Given the description of an element on the screen output the (x, y) to click on. 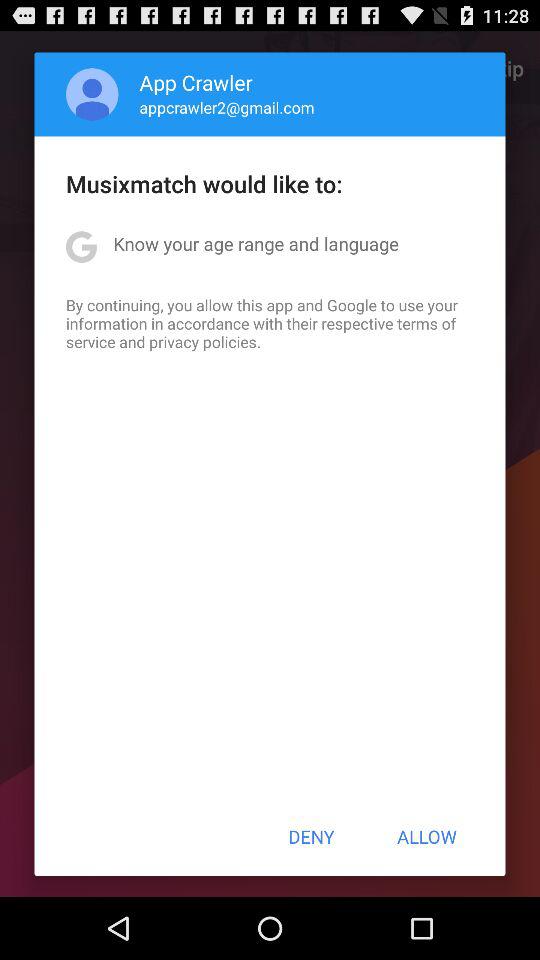
turn on the icon below the by continuing you item (311, 836)
